Given the description of an element on the screen output the (x, y) to click on. 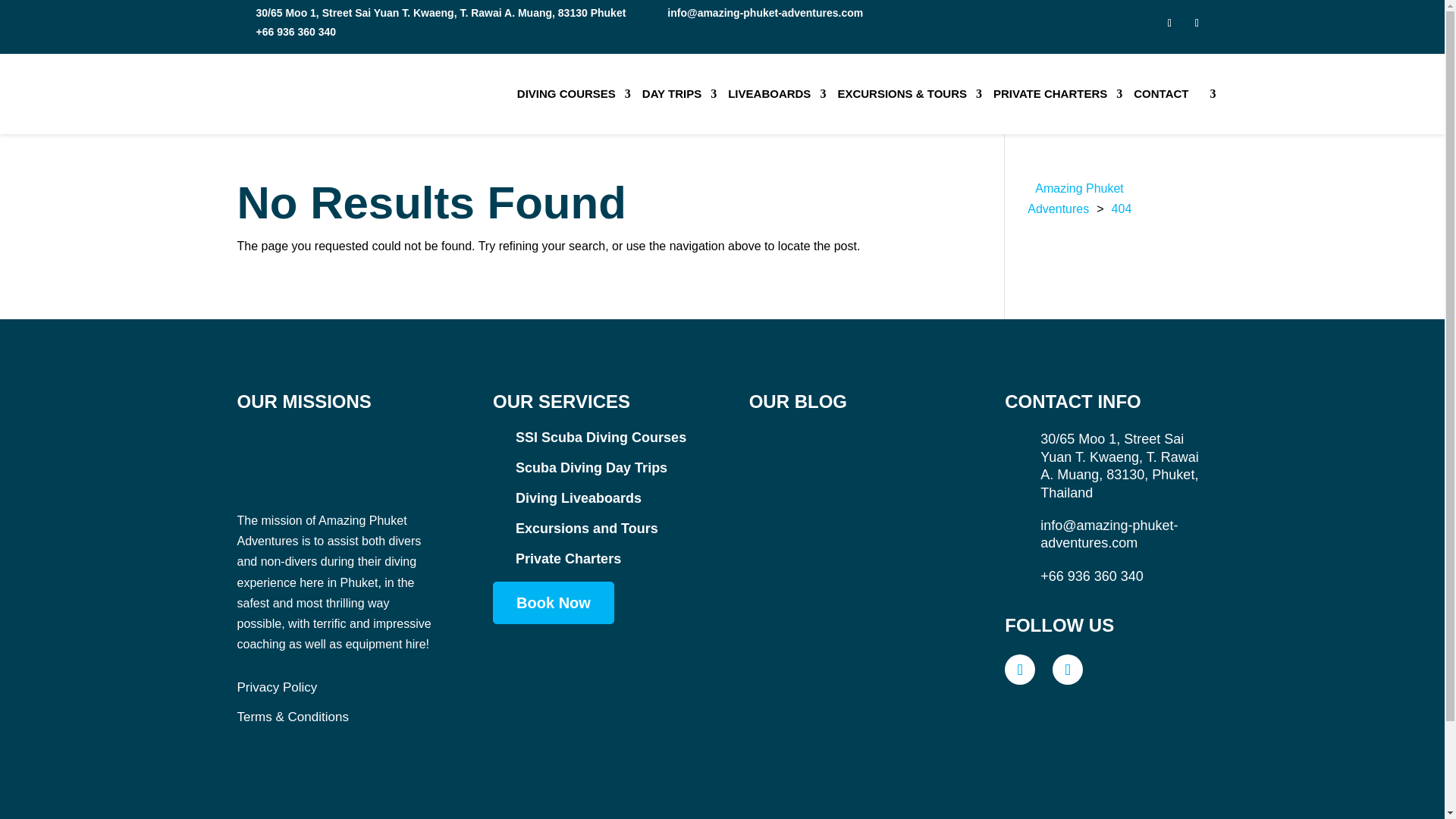
LIVEABOARDS (776, 93)
Go to 404. (1121, 208)
Follow on Facebook (1168, 23)
Follow on Instagram (1196, 23)
Amazing Phuket Adventures Logo (337, 457)
DIVING COURSES (573, 93)
DAY TRIPS (679, 93)
Follow on Instagram (1067, 669)
Follow on Facebook (1019, 669)
Go to Amazing Phuket Adventures. (1075, 198)
